Given the description of an element on the screen output the (x, y) to click on. 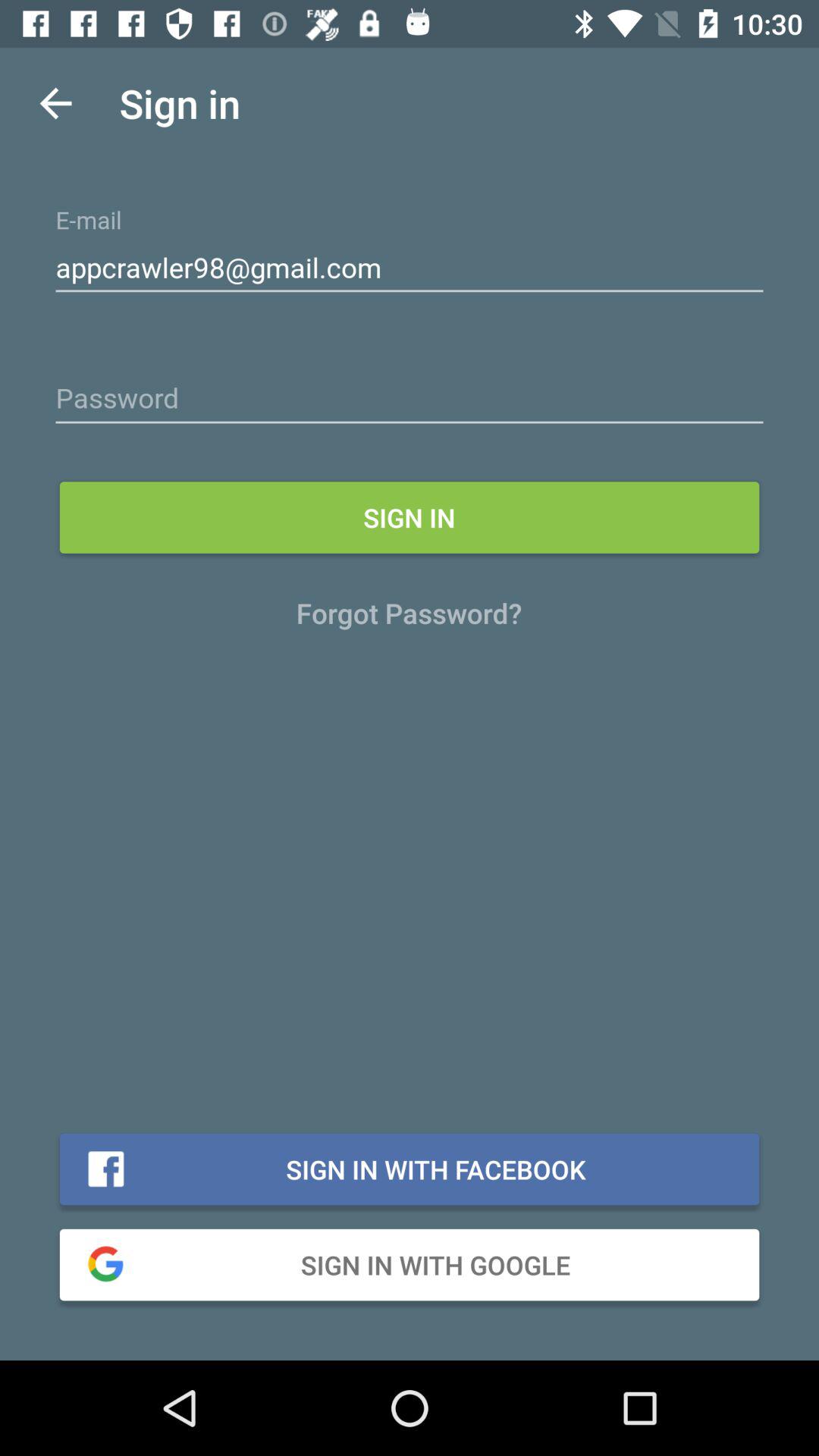
advertisement (409, 399)
